Given the description of an element on the screen output the (x, y) to click on. 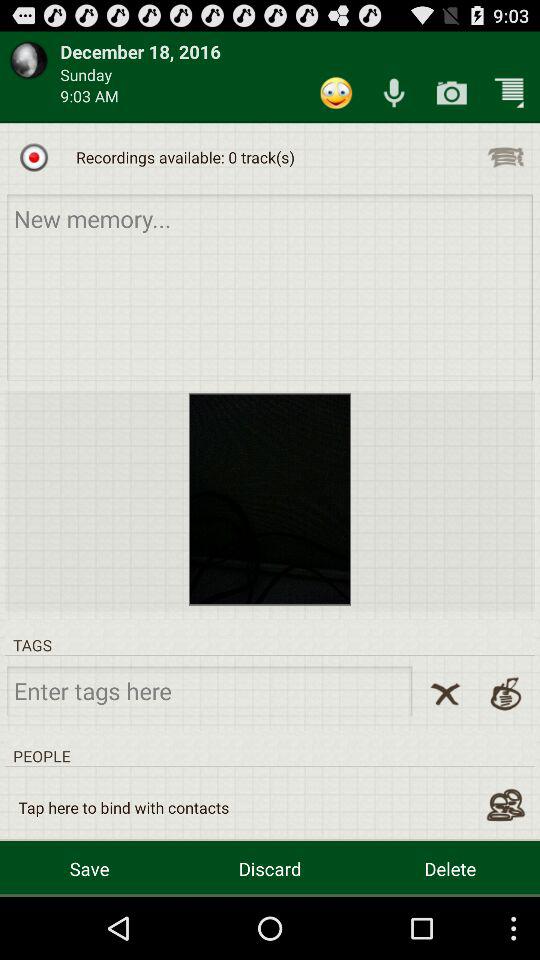
turn off icon below the people app (123, 807)
